Given the description of an element on the screen output the (x, y) to click on. 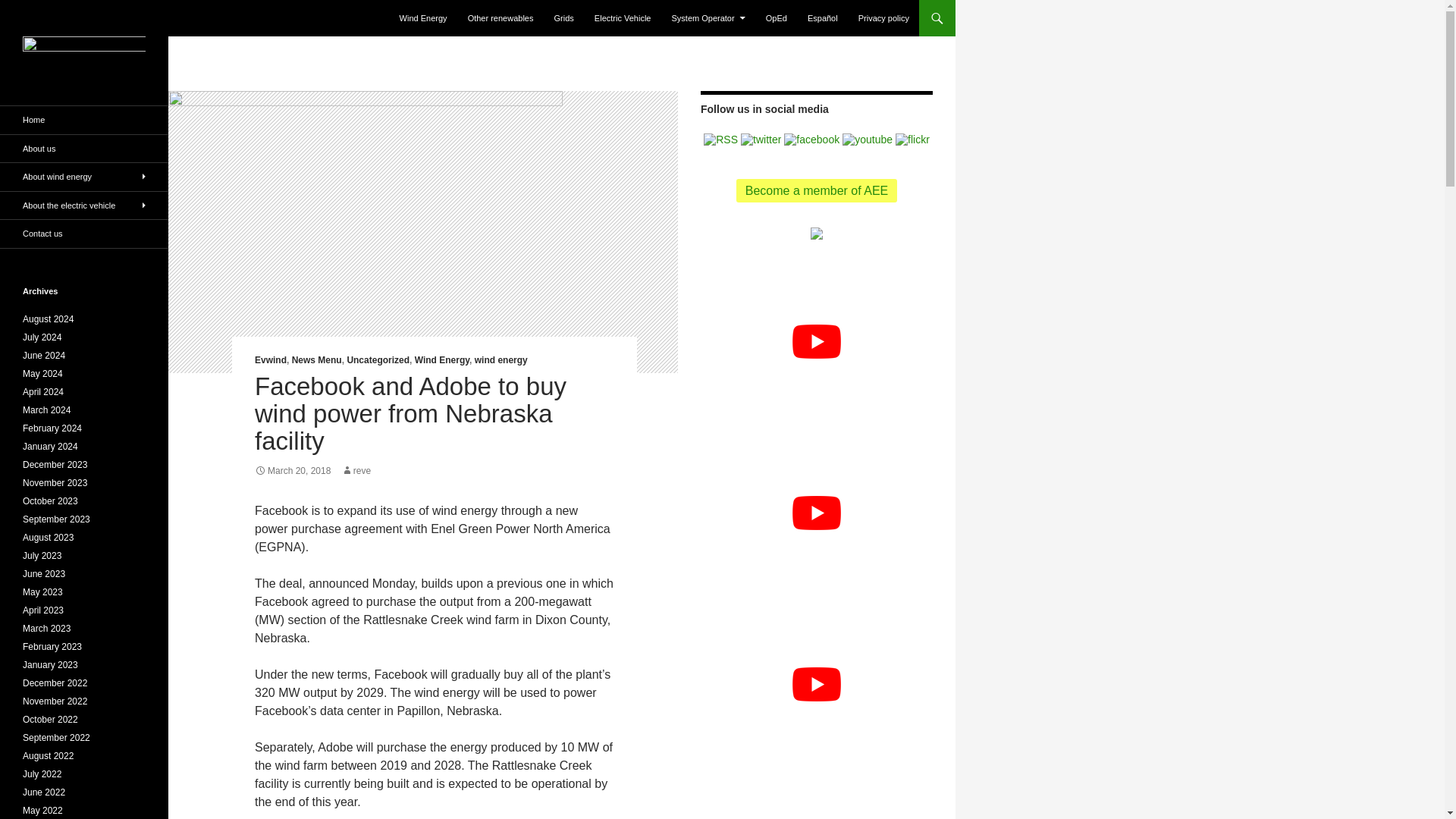
Evwind (270, 359)
Wind Energy (441, 359)
System Operator (708, 18)
facebook (812, 138)
twitter (760, 139)
reve (355, 470)
Grids (563, 18)
flickr (912, 138)
Other renewables (500, 18)
Privacy policy (883, 18)
twitter (761, 138)
flickr (912, 139)
News Menu (317, 359)
Uncategorized (377, 359)
wind energy (500, 359)
